Given the description of an element on the screen output the (x, y) to click on. 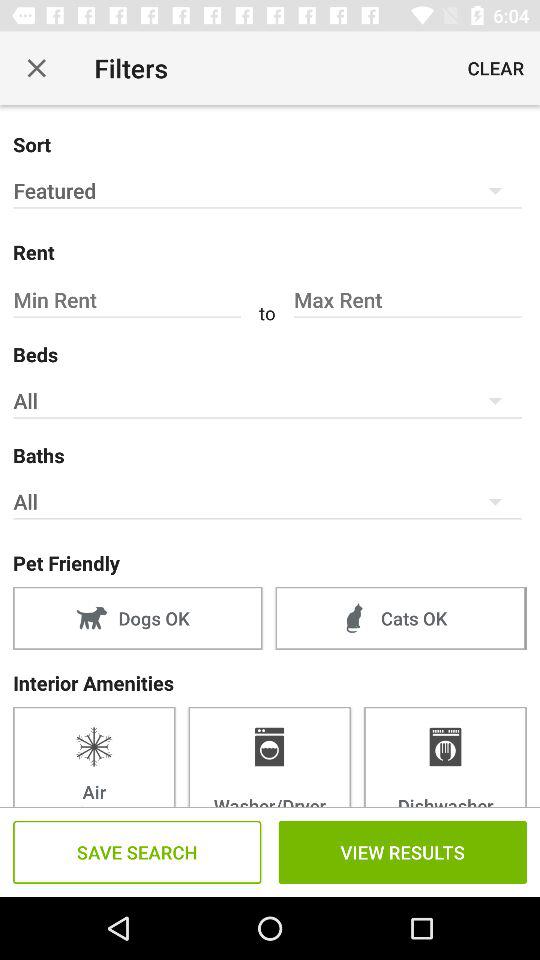
turn off the dogs ok on the left (137, 617)
